Given the description of an element on the screen output the (x, y) to click on. 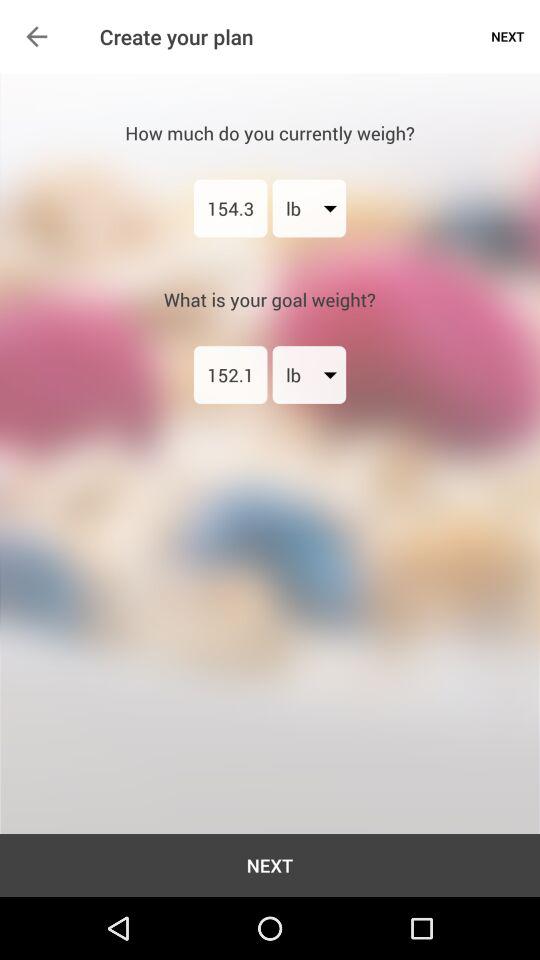
select item to the left of create your plan (36, 36)
